Given the description of an element on the screen output the (x, y) to click on. 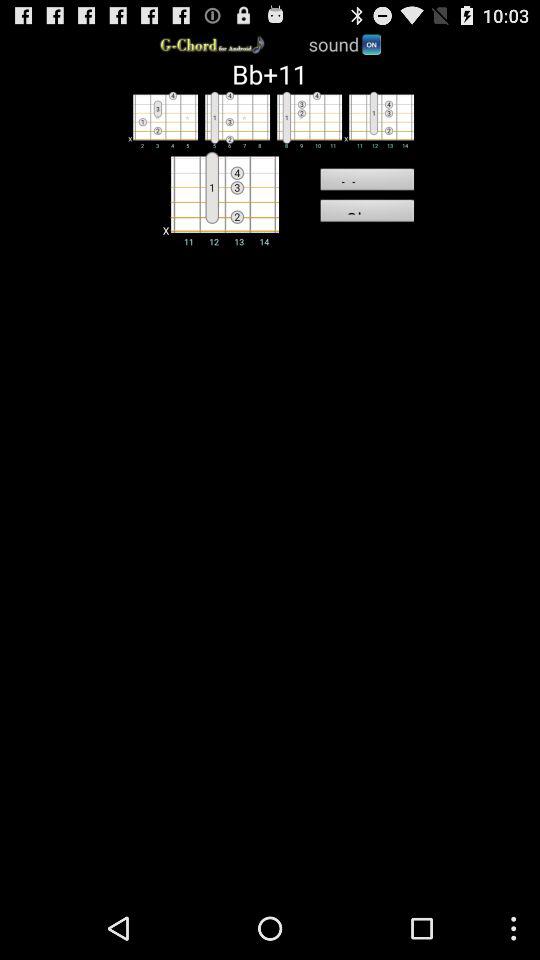
show table (162, 119)
